Given the description of an element on the screen output the (x, y) to click on. 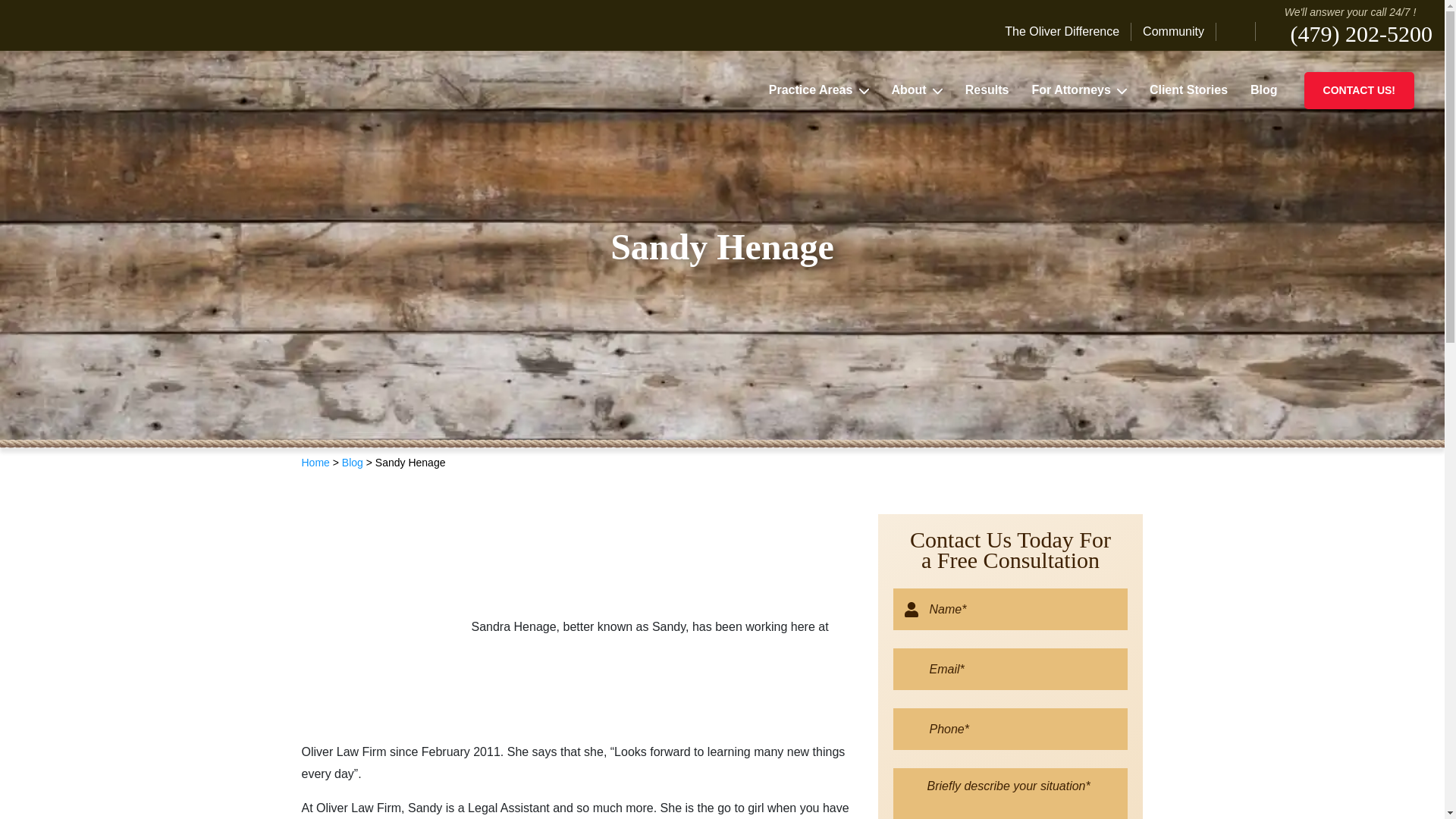
Client Stories (1188, 89)
Blog (1263, 89)
Community (1173, 31)
Results (986, 89)
CONTACT US! (1358, 89)
The Oliver Difference (1067, 31)
